Given the description of an element on the screen output the (x, y) to click on. 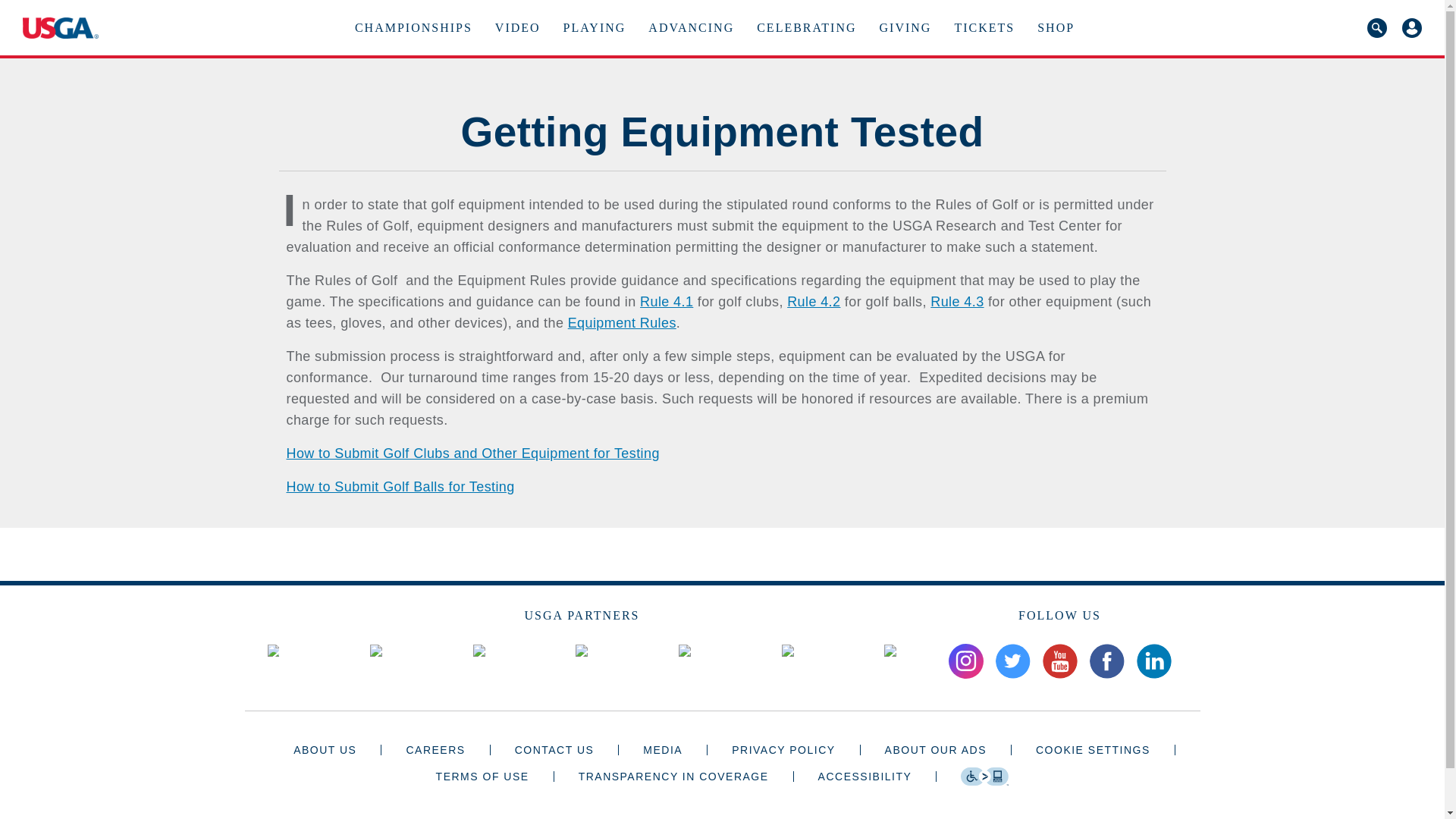
Twitter (1011, 660)
Ally (272, 650)
Youtube (1059, 660)
American Express (375, 650)
Cisco (478, 650)
VIDEO (517, 27)
Deloitte (581, 650)
careers (435, 749)
Lexus (684, 650)
Instagram (964, 660)
